Given the description of an element on the screen output the (x, y) to click on. 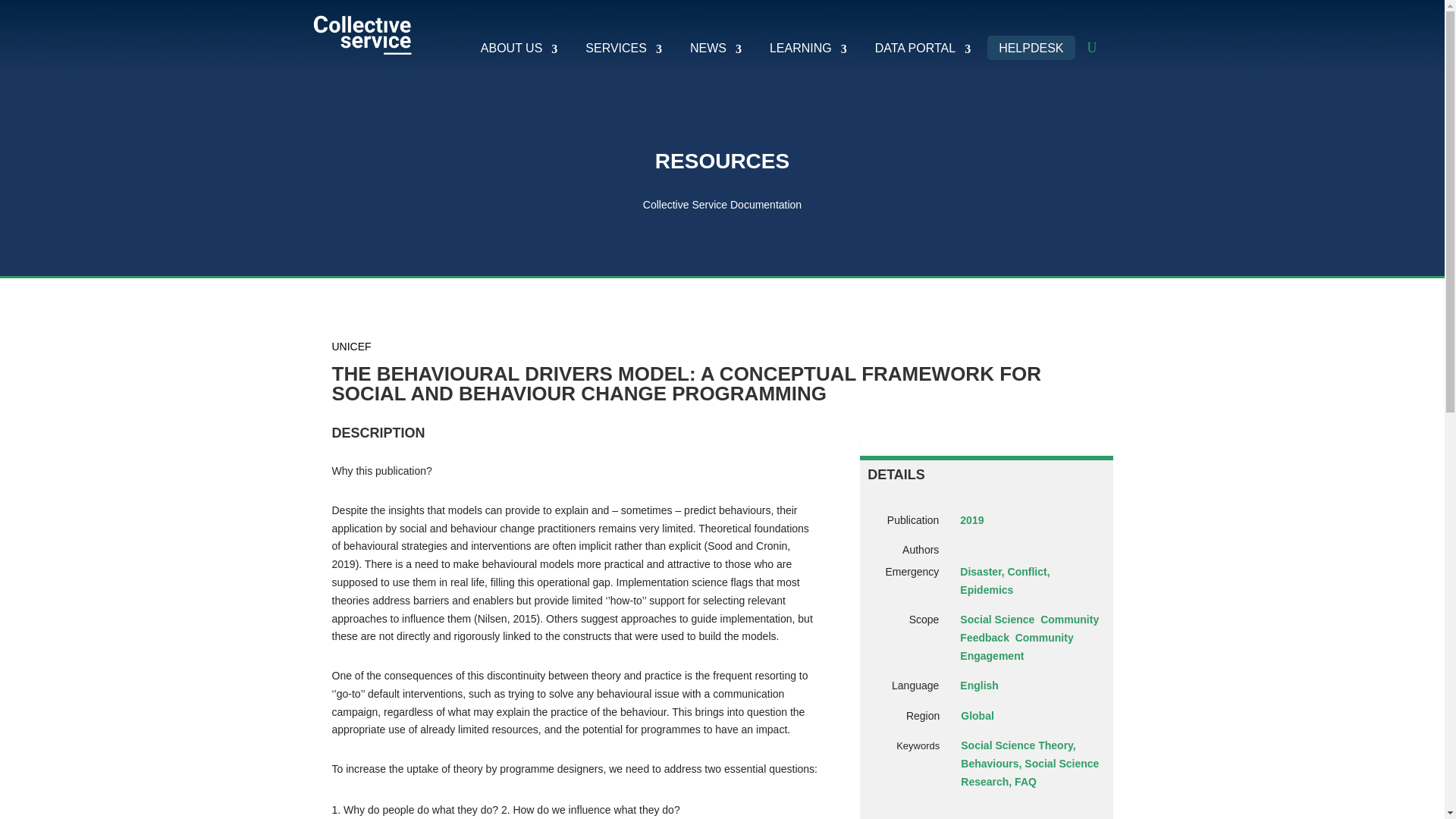
NEWS (709, 47)
SERVICES (617, 47)
LEARNING (802, 47)
ABOUT US (512, 47)
DATA PORTAL (917, 47)
Home (361, 35)
